Given the description of an element on the screen output the (x, y) to click on. 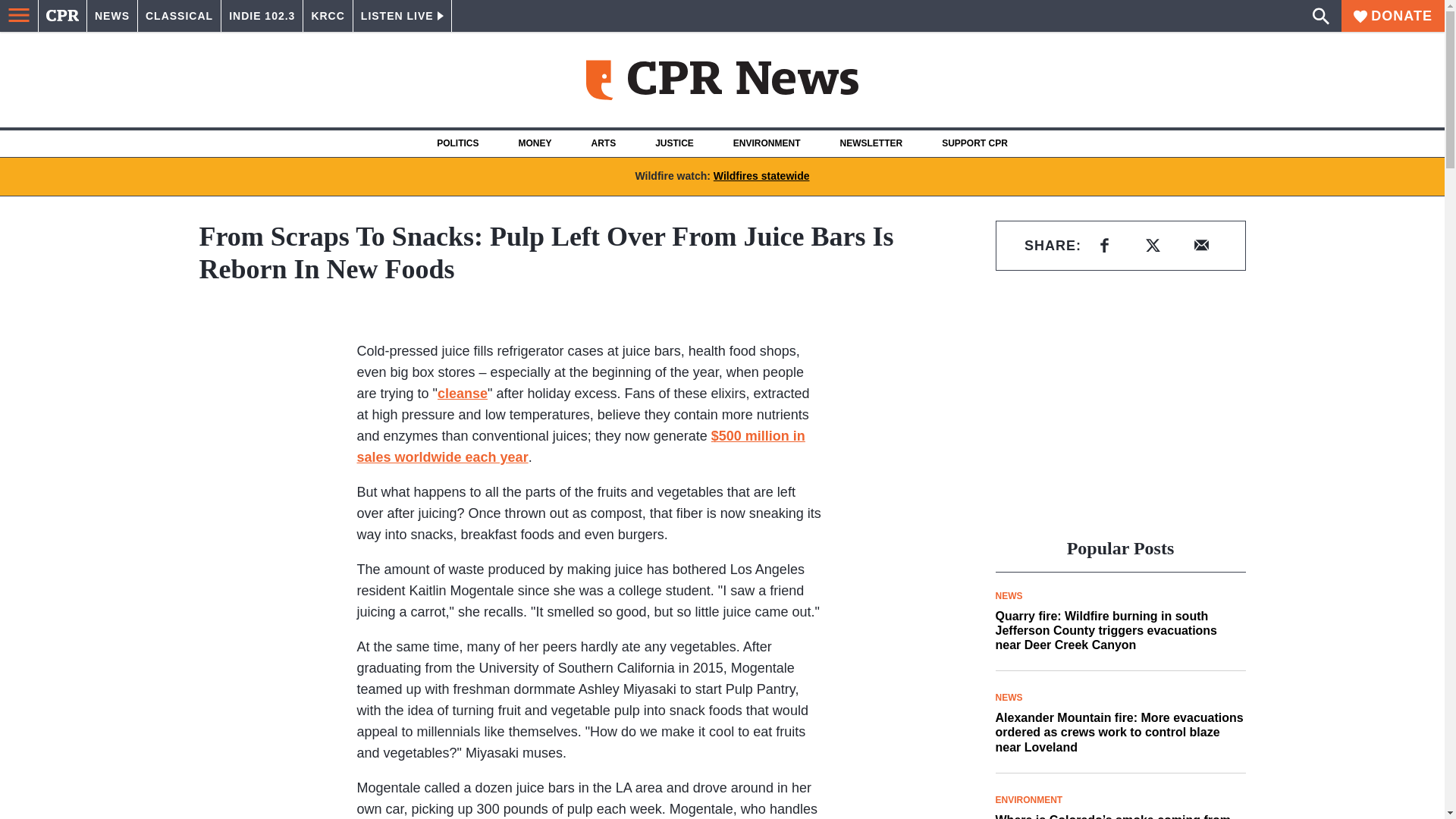
LISTEN LIVE (402, 15)
KRCC (327, 15)
NEWS (111, 15)
CLASSICAL (179, 15)
INDIE 102.3 (261, 15)
